Given the description of an element on the screen output the (x, y) to click on. 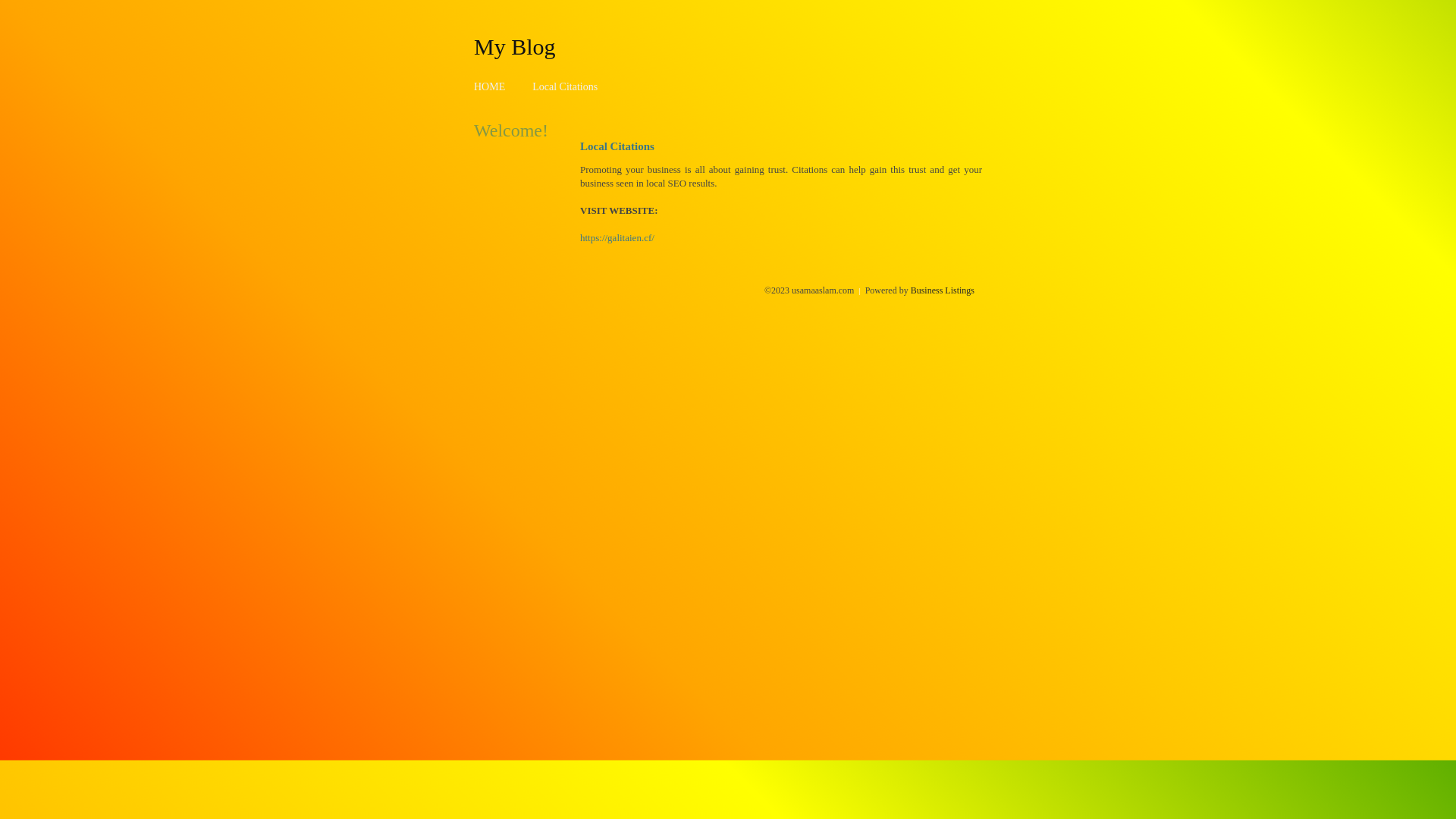
Business Listings Element type: text (942, 290)
HOME Element type: text (489, 86)
https://galitaien.cf/ Element type: text (617, 237)
My Blog Element type: text (514, 46)
Local Citations Element type: text (564, 86)
